Given the description of an element on the screen output the (x, y) to click on. 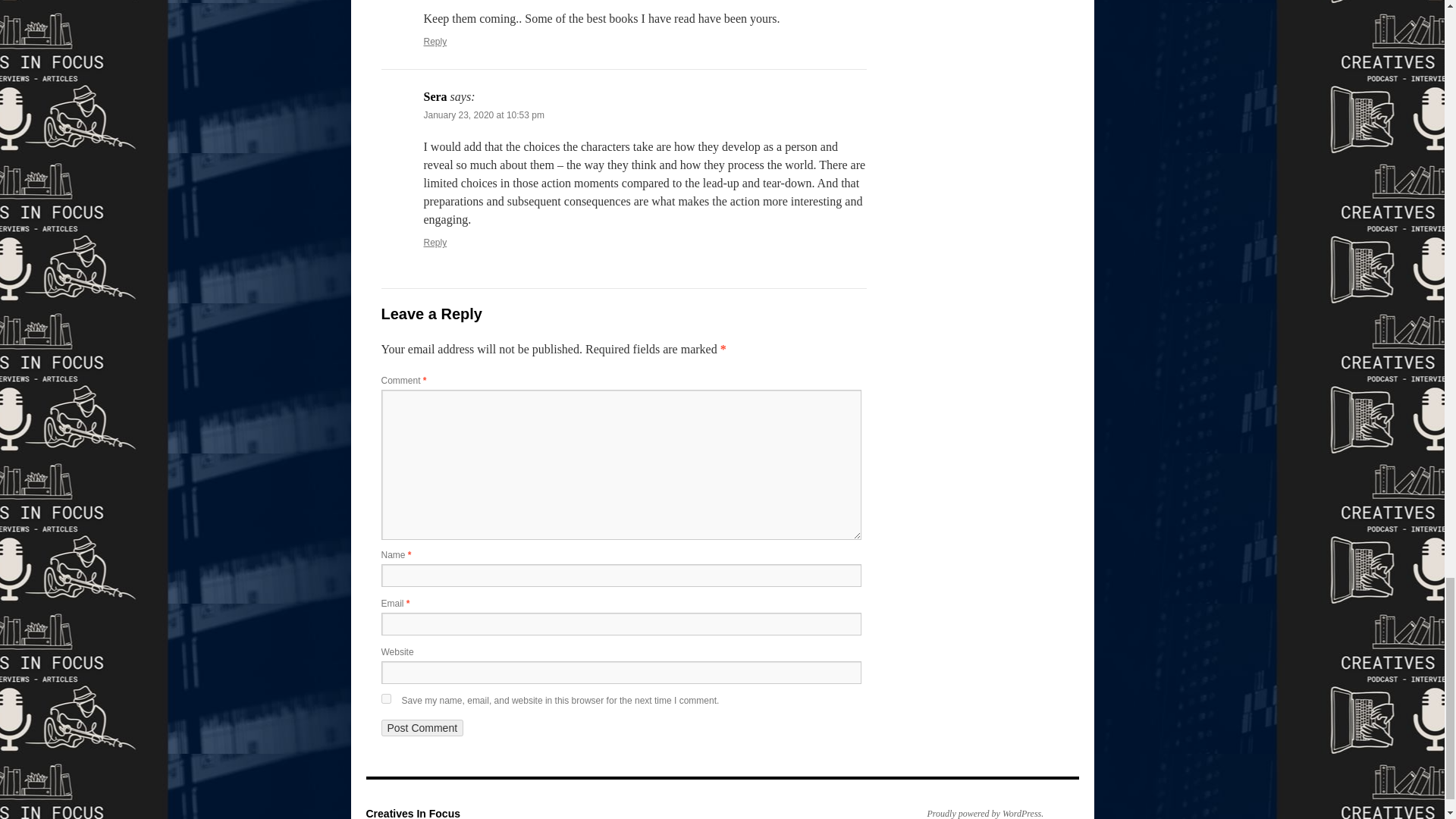
Reply (434, 41)
January 23, 2020 at 10:53 pm (483, 114)
yes (385, 698)
Reply (434, 242)
Post Comment (421, 727)
Post Comment (421, 727)
